Given the description of an element on the screen output the (x, y) to click on. 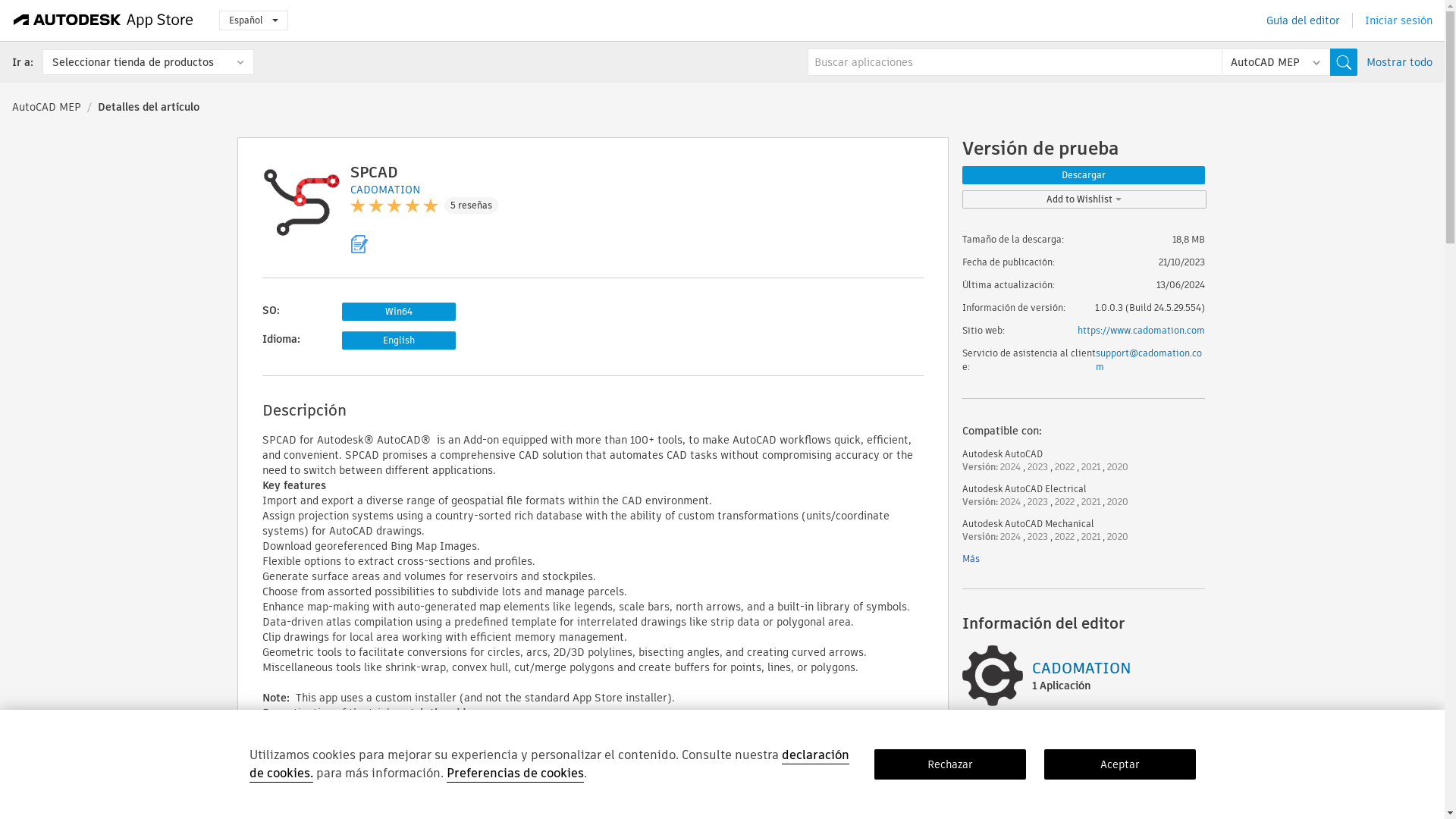
Seleccionar tienda de productos (147, 62)
Autodesk App Store (103, 20)
SPCAD (373, 171)
